Given the description of an element on the screen output the (x, y) to click on. 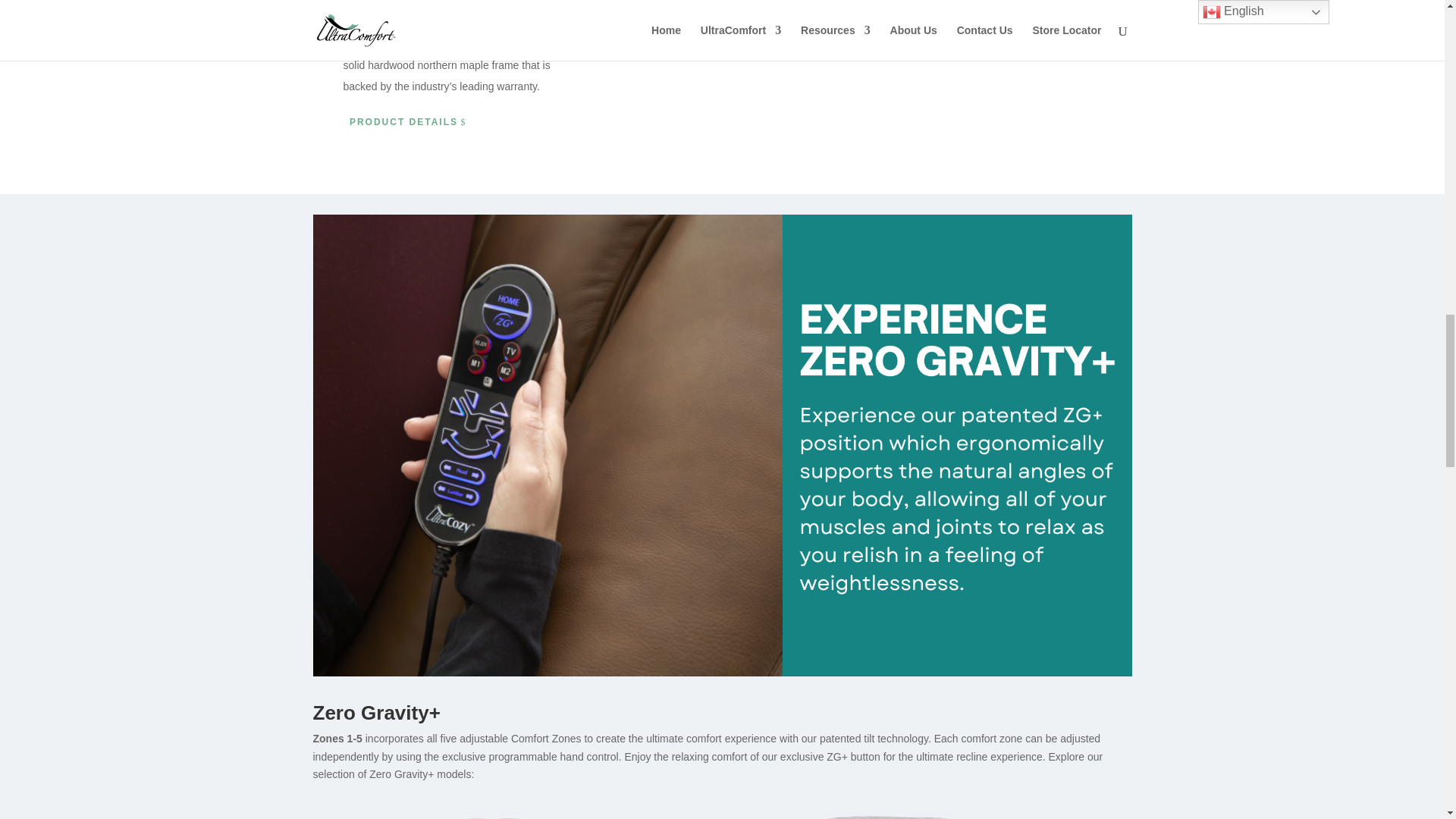
UltraCozy UC-667 (934, 811)
UltraCozy UC-665 (502, 811)
